Given the description of an element on the screen output the (x, y) to click on. 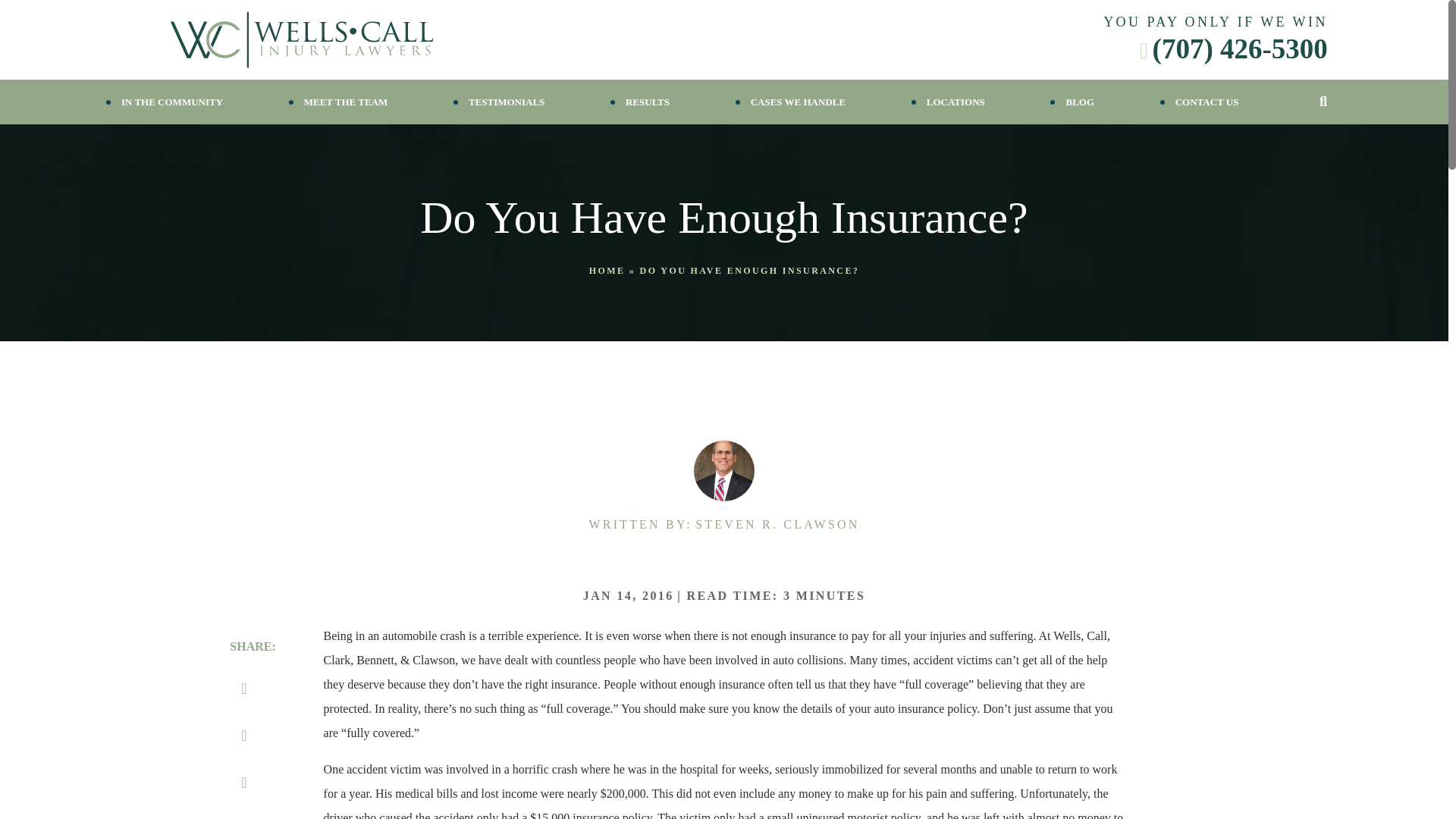
CASES WE HANDLE (798, 101)
MEET THE TEAM (346, 101)
LOCATIONS (955, 101)
Twitter (244, 736)
TESTIMONIALS (506, 101)
LinkedIn (244, 783)
IN THE COMMUNITY (171, 101)
RESULTS (647, 101)
Facebook (244, 689)
